Given the description of an element on the screen output the (x, y) to click on. 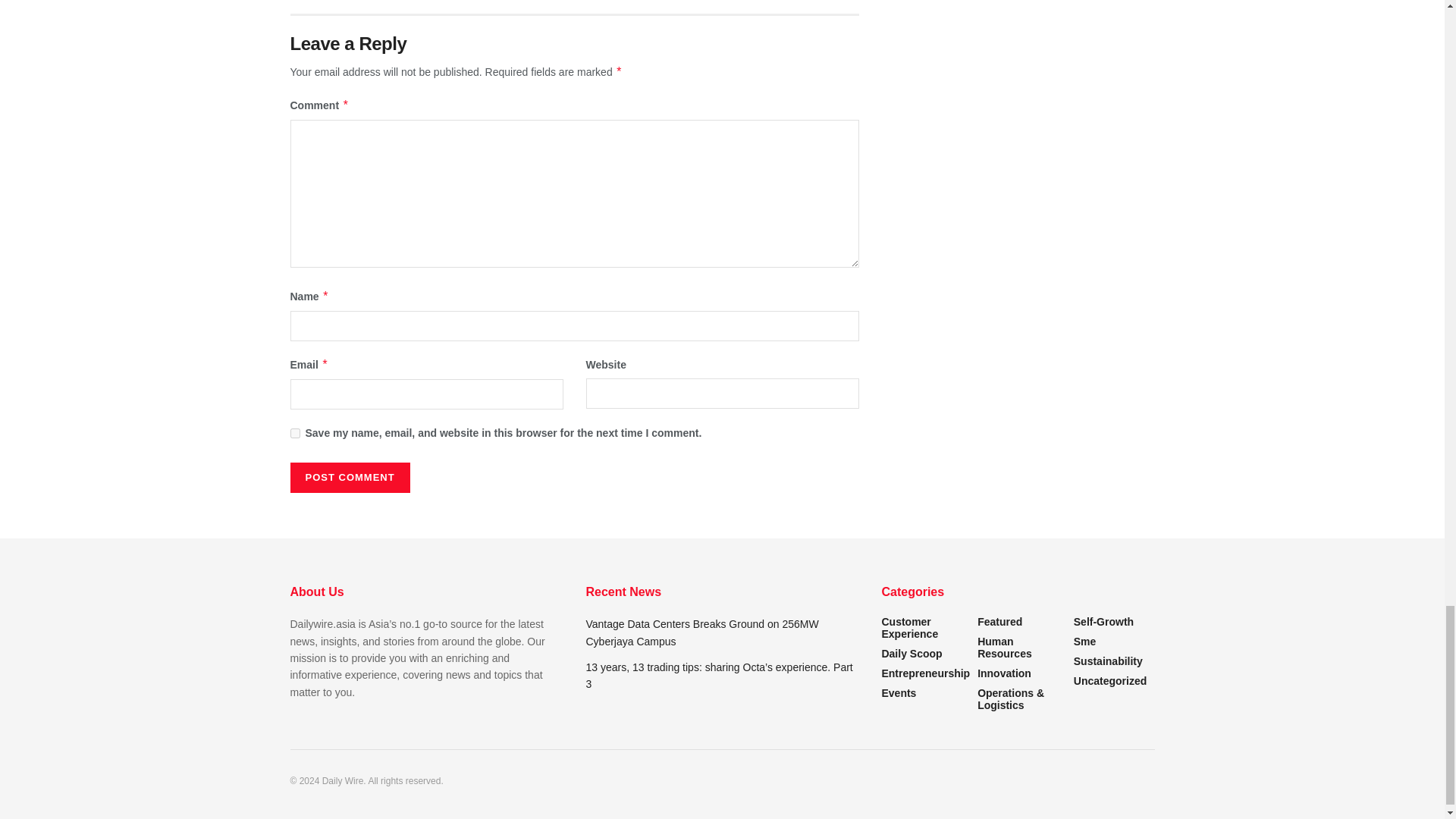
yes (294, 433)
Post Comment (349, 477)
